Given the description of an element on the screen output the (x, y) to click on. 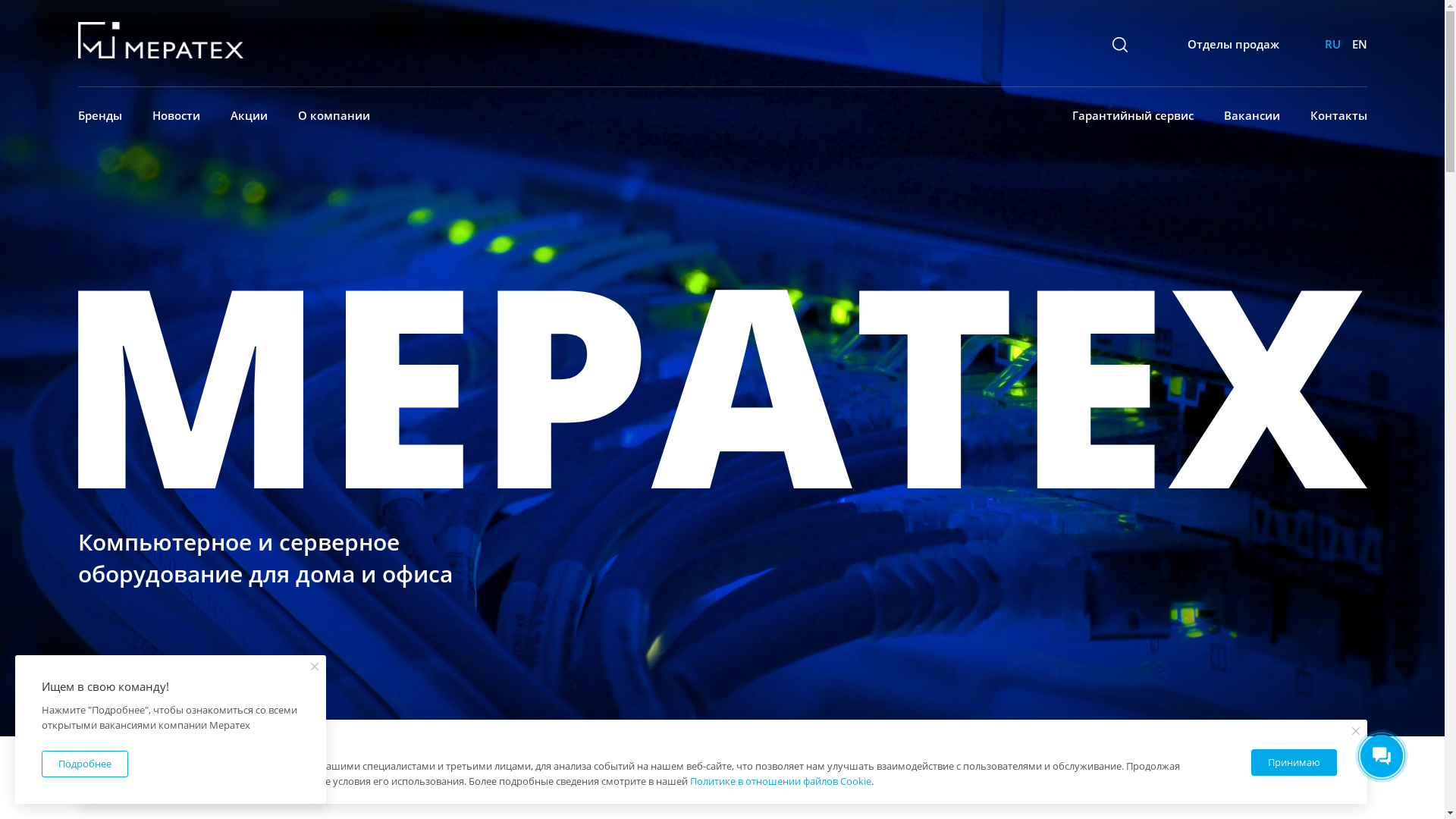
EN Element type: text (1358, 43)
RU Element type: text (1331, 43)
